Given the description of an element on the screen output the (x, y) to click on. 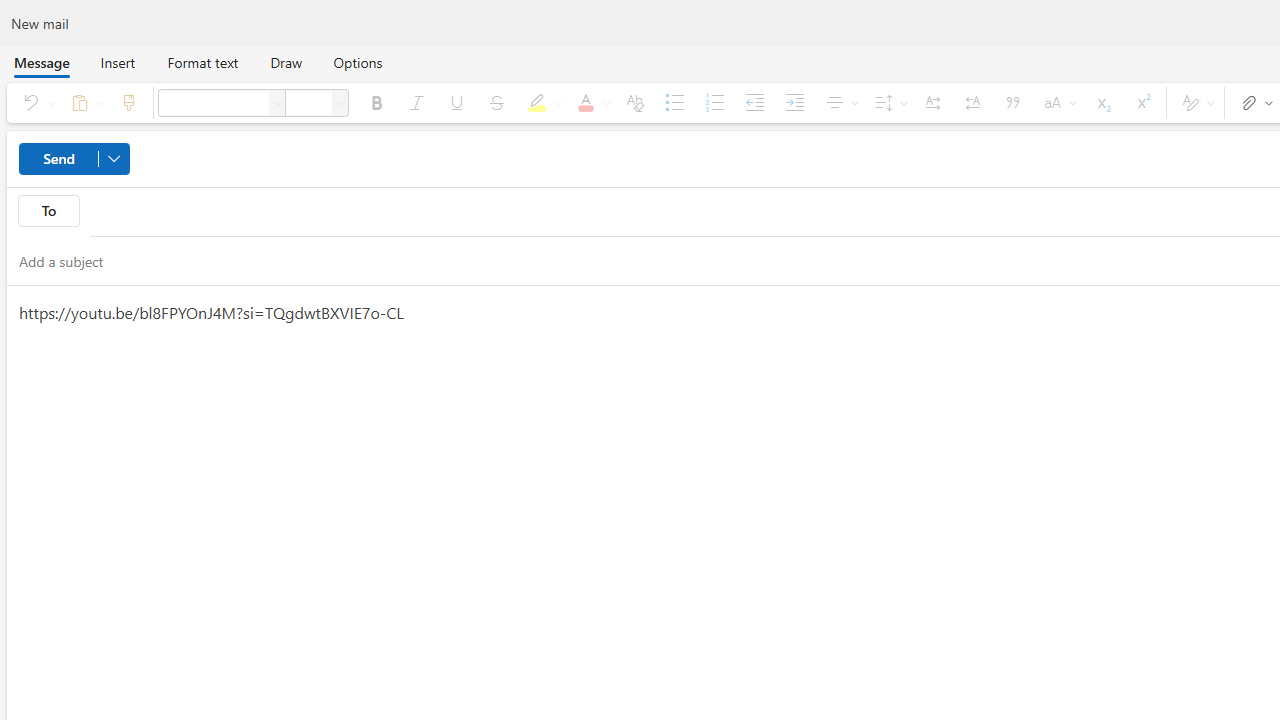
Decrease indent (754, 102)
Quote (1012, 102)
Send (74, 158)
Format text (202, 61)
Attach file (1252, 102)
Spacing (888, 102)
Left-to-right (932, 102)
